Given the description of an element on the screen output the (x, y) to click on. 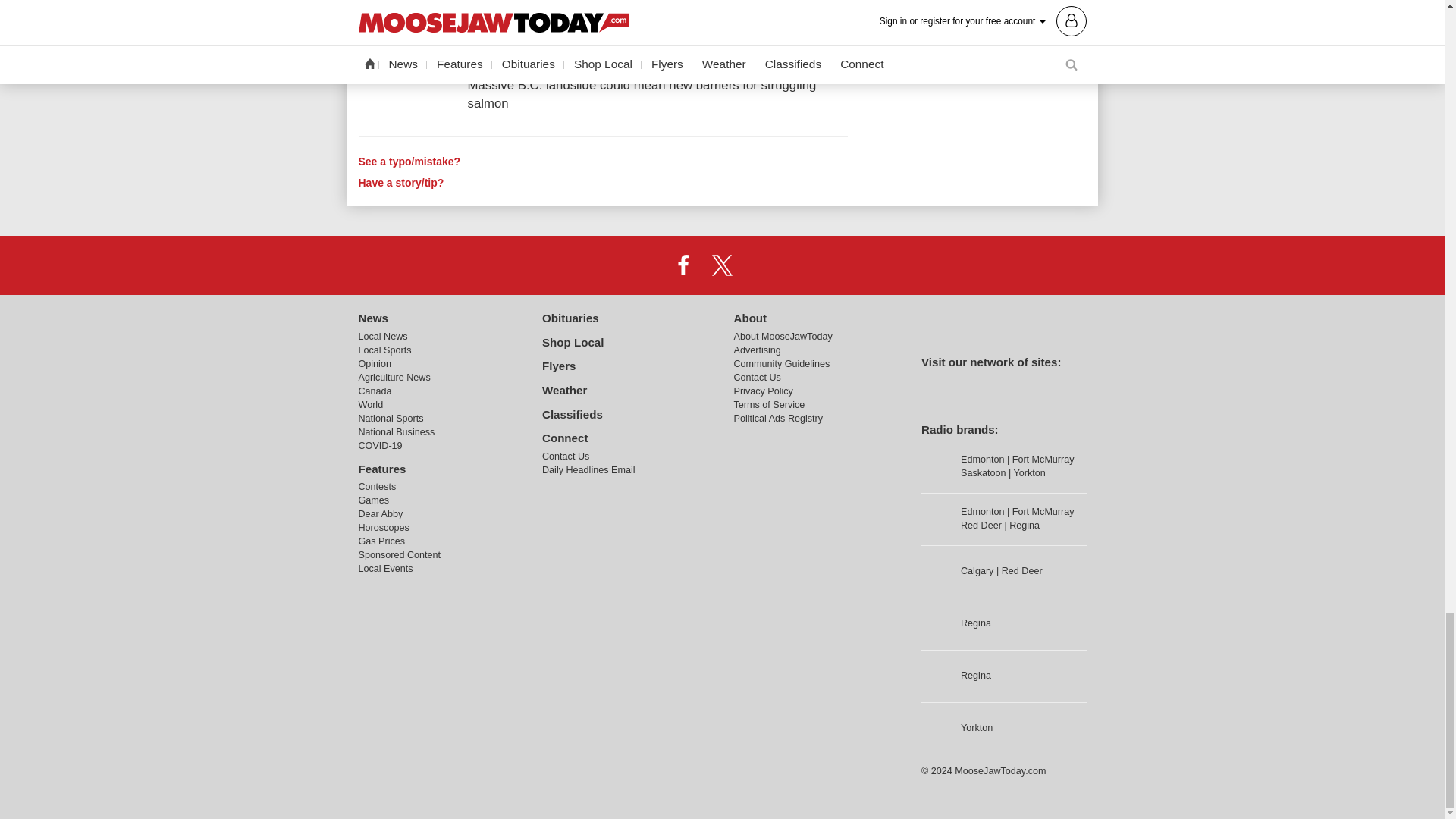
Instagram (760, 265)
Facebook (683, 265)
X (721, 265)
